Given the description of an element on the screen output the (x, y) to click on. 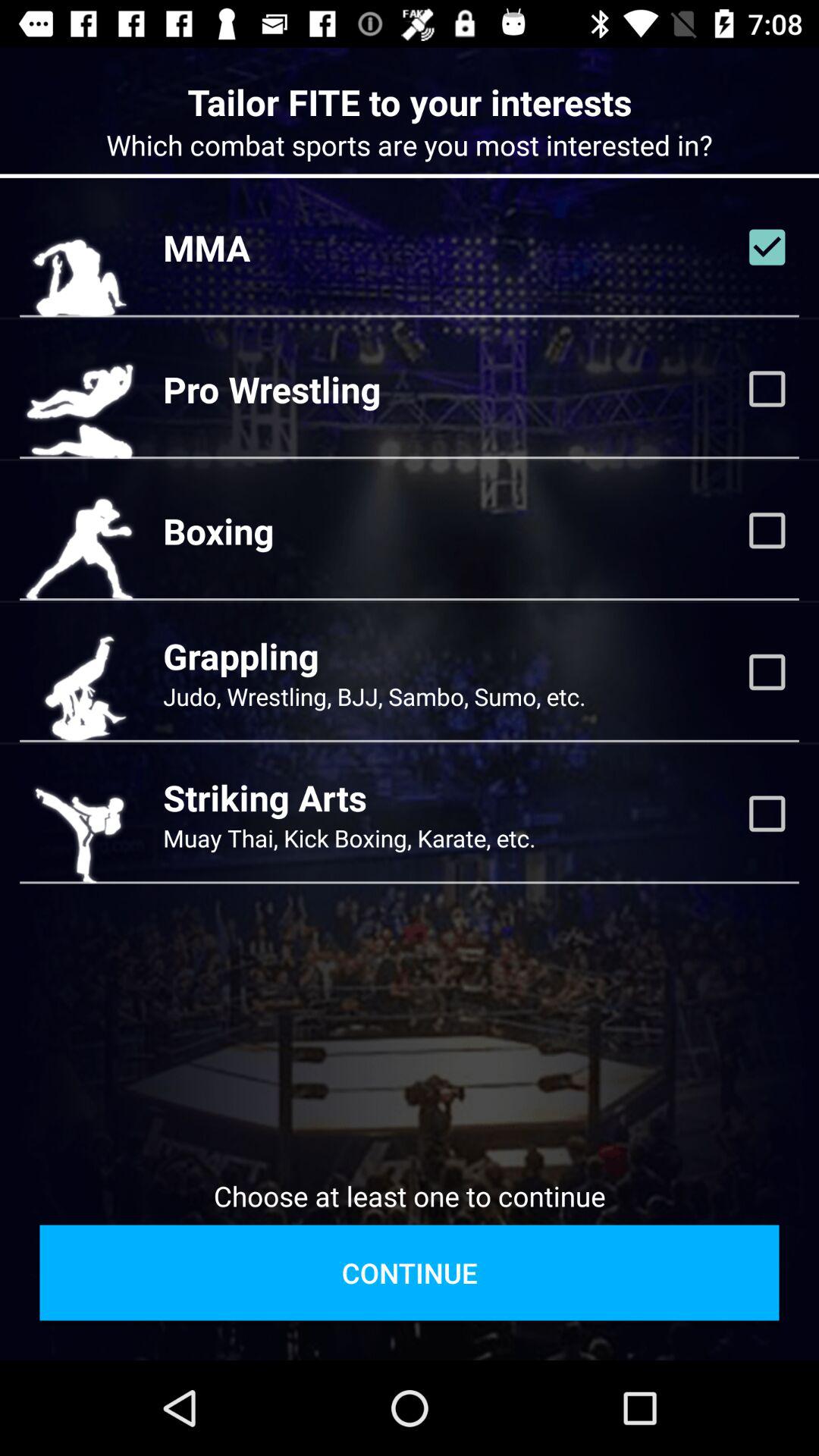
show grappling (767, 672)
